Given the description of an element on the screen output the (x, y) to click on. 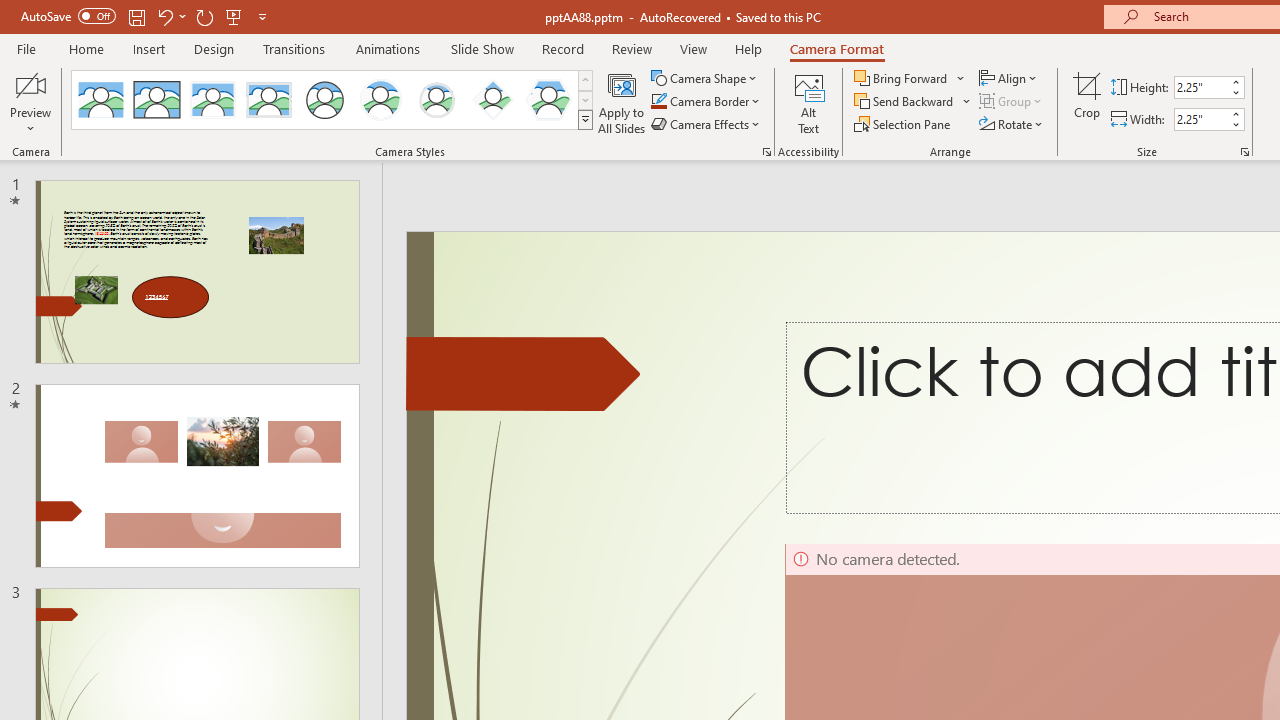
Apply to All Slides (621, 102)
Center Shadow Circle (381, 100)
Camera Border (706, 101)
Rotate (1012, 124)
Size and Position... (1244, 151)
Align (1009, 78)
Cameo Height (1201, 87)
